Given the description of an element on the screen output the (x, y) to click on. 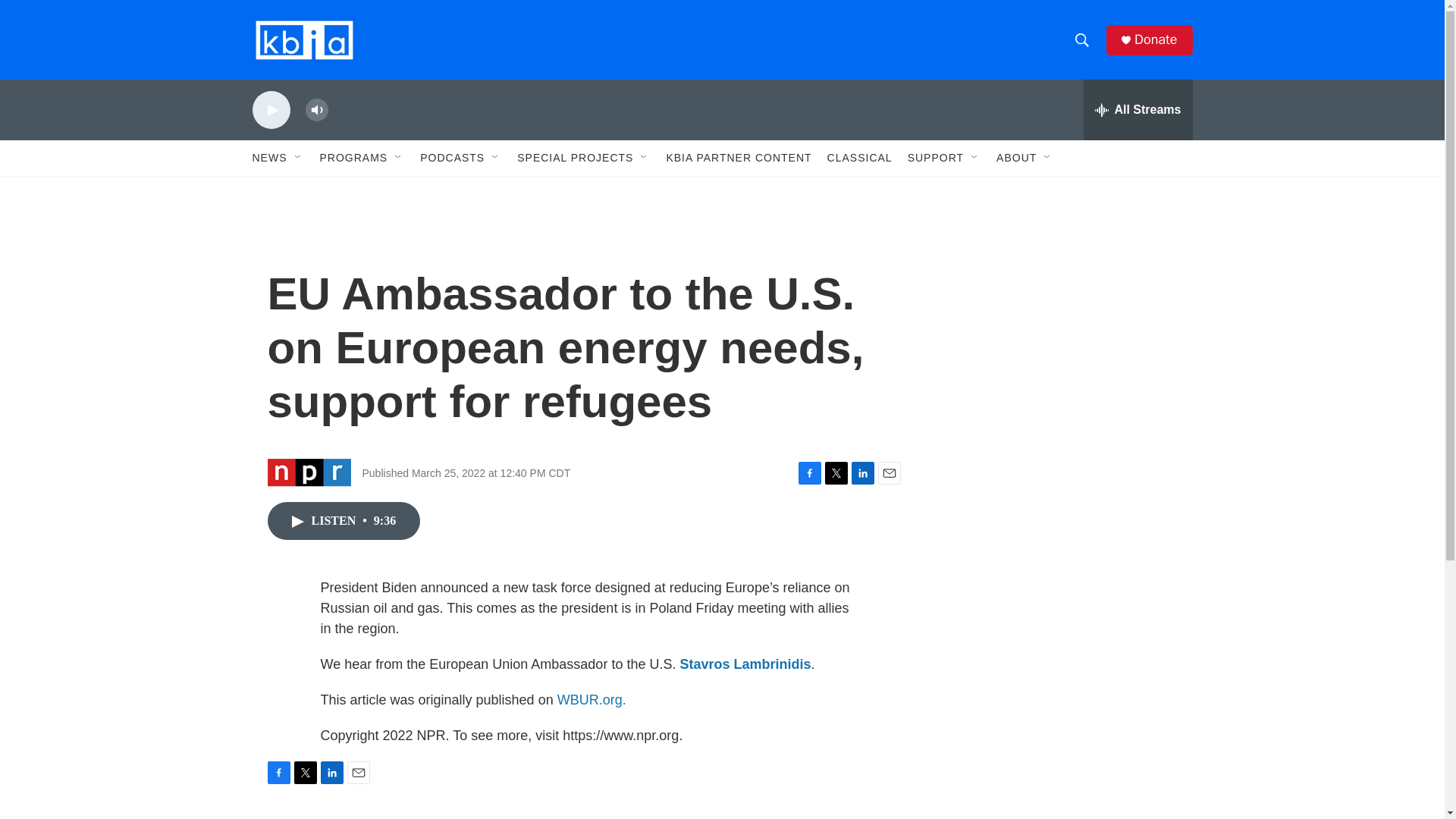
3rd party ad content (1062, 536)
3rd party ad content (1062, 316)
3rd party ad content (1062, 740)
